Given the description of an element on the screen output the (x, y) to click on. 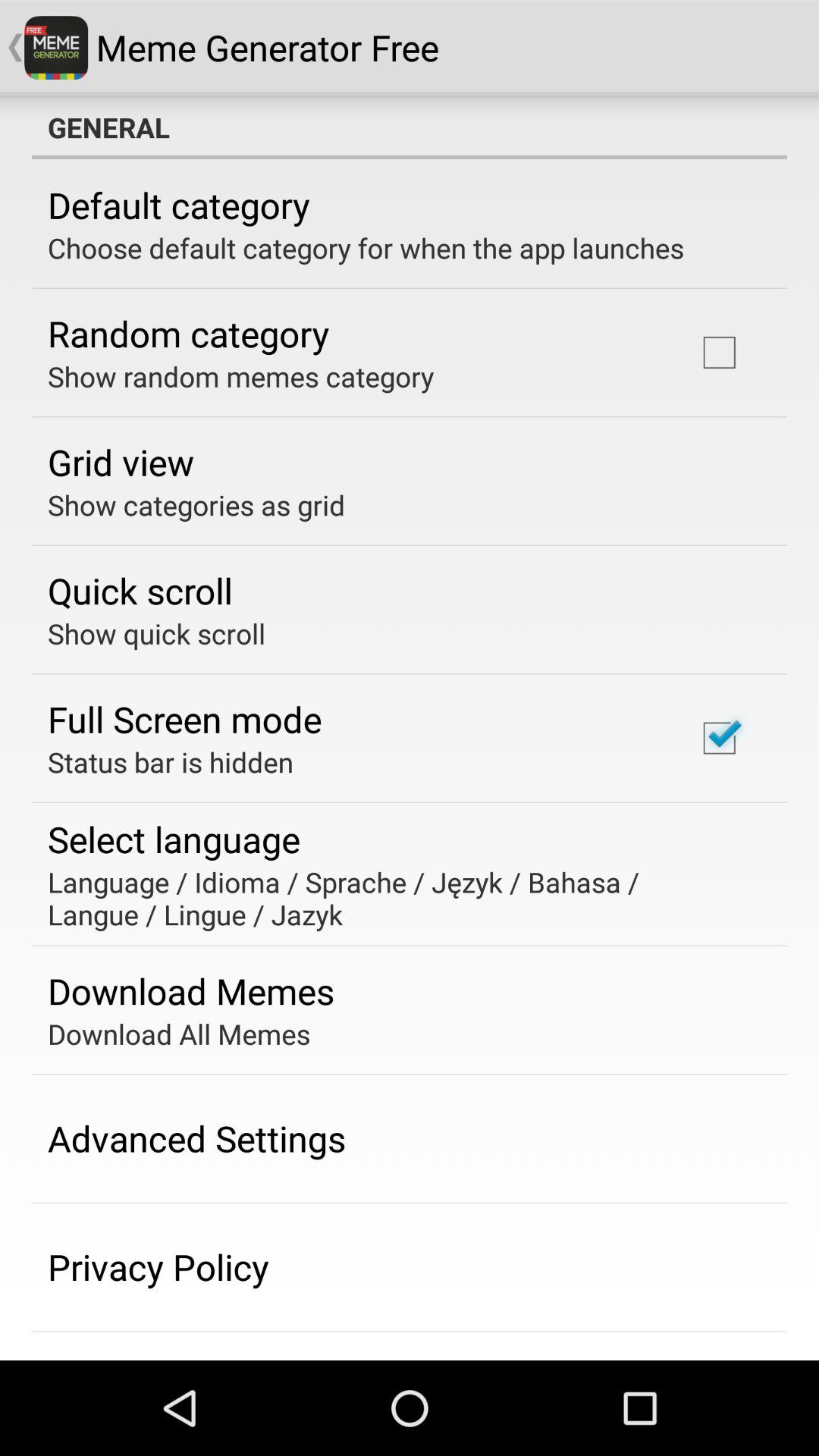
swipe to the privacy policy icon (158, 1266)
